Given the description of an element on the screen output the (x, y) to click on. 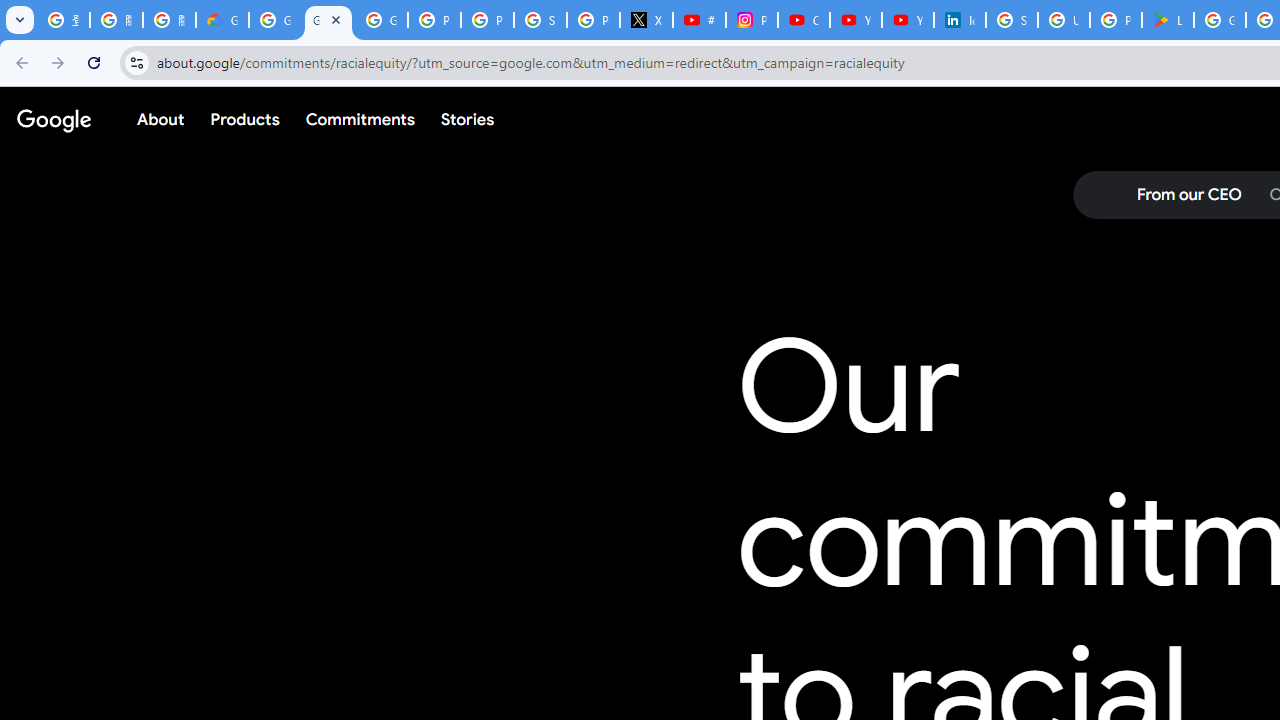
YouTube Culture & Trends - YouTube Top 10, 2021 (907, 20)
Sign in - Google Accounts (540, 20)
Stories (467, 119)
